Given the description of an element on the screen output the (x, y) to click on. 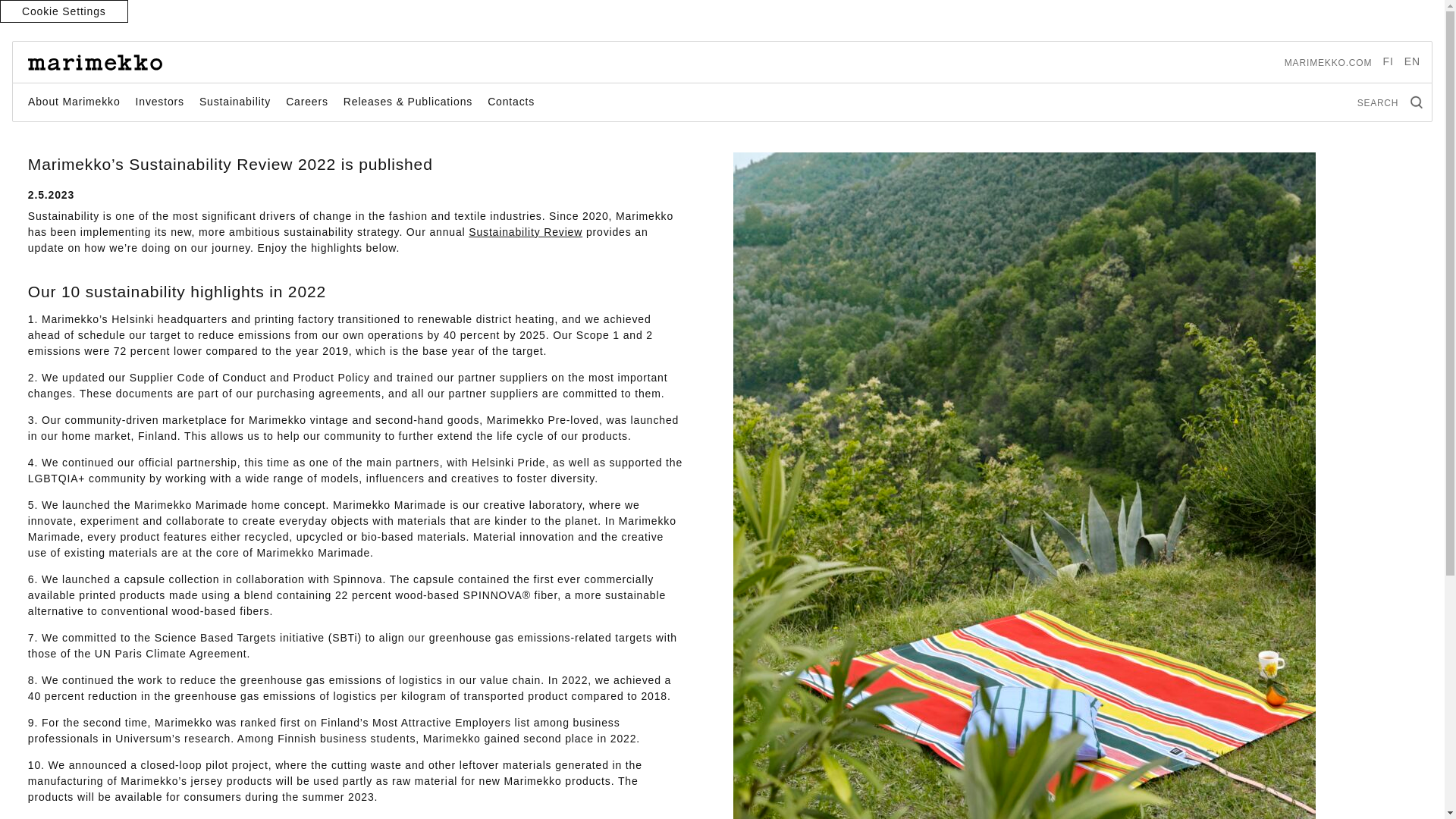
Investors (159, 102)
Cookie Settings (64, 11)
EN (1413, 61)
About Marimekko (73, 102)
MARIMEKKO.COM (1328, 62)
